Given the description of an element on the screen output the (x, y) to click on. 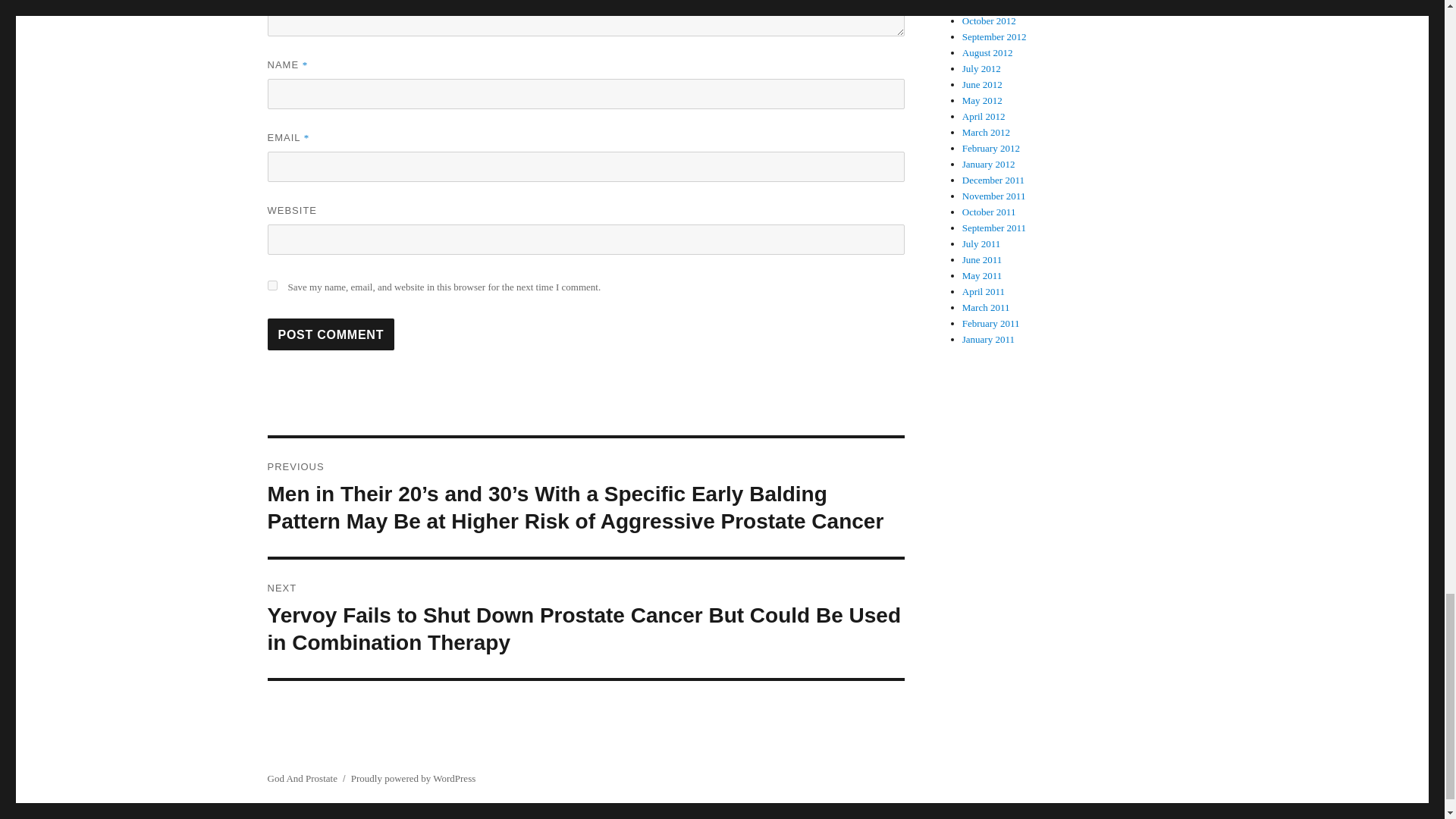
Post Comment (330, 334)
Post Comment (330, 334)
yes (271, 285)
